Given the description of an element on the screen output the (x, y) to click on. 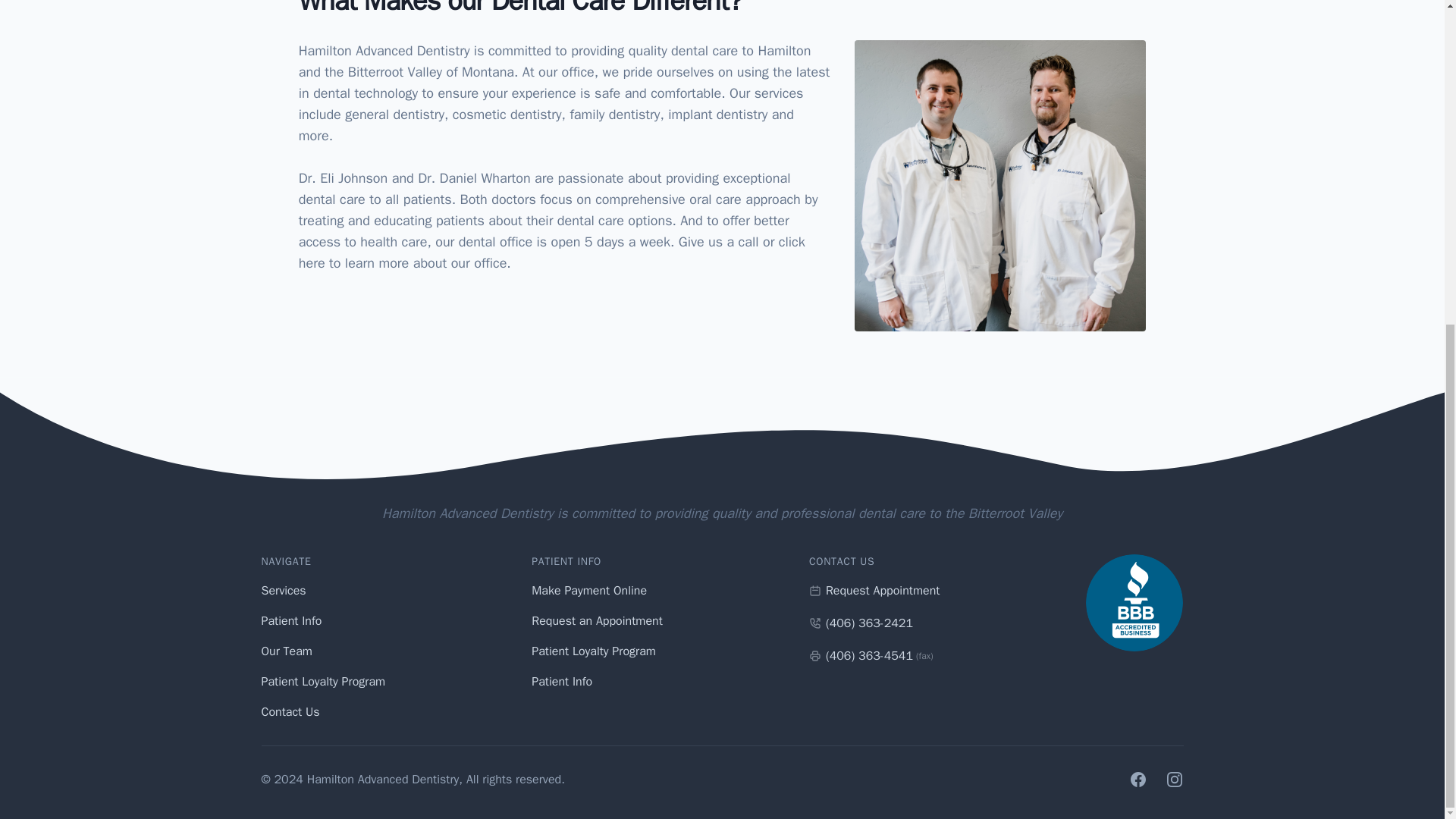
Request an Appointment (596, 620)
Patient Loyalty Program (593, 651)
Facebook (1137, 779)
Make Payment Online (588, 590)
Contact Us (289, 711)
Patient Info (561, 681)
Patient Info (290, 620)
Our Team (285, 651)
Patient Loyalty Program (322, 681)
Instagram (1173, 779)
click here (551, 252)
Request Appointment (874, 590)
Services (282, 590)
